Given the description of an element on the screen output the (x, y) to click on. 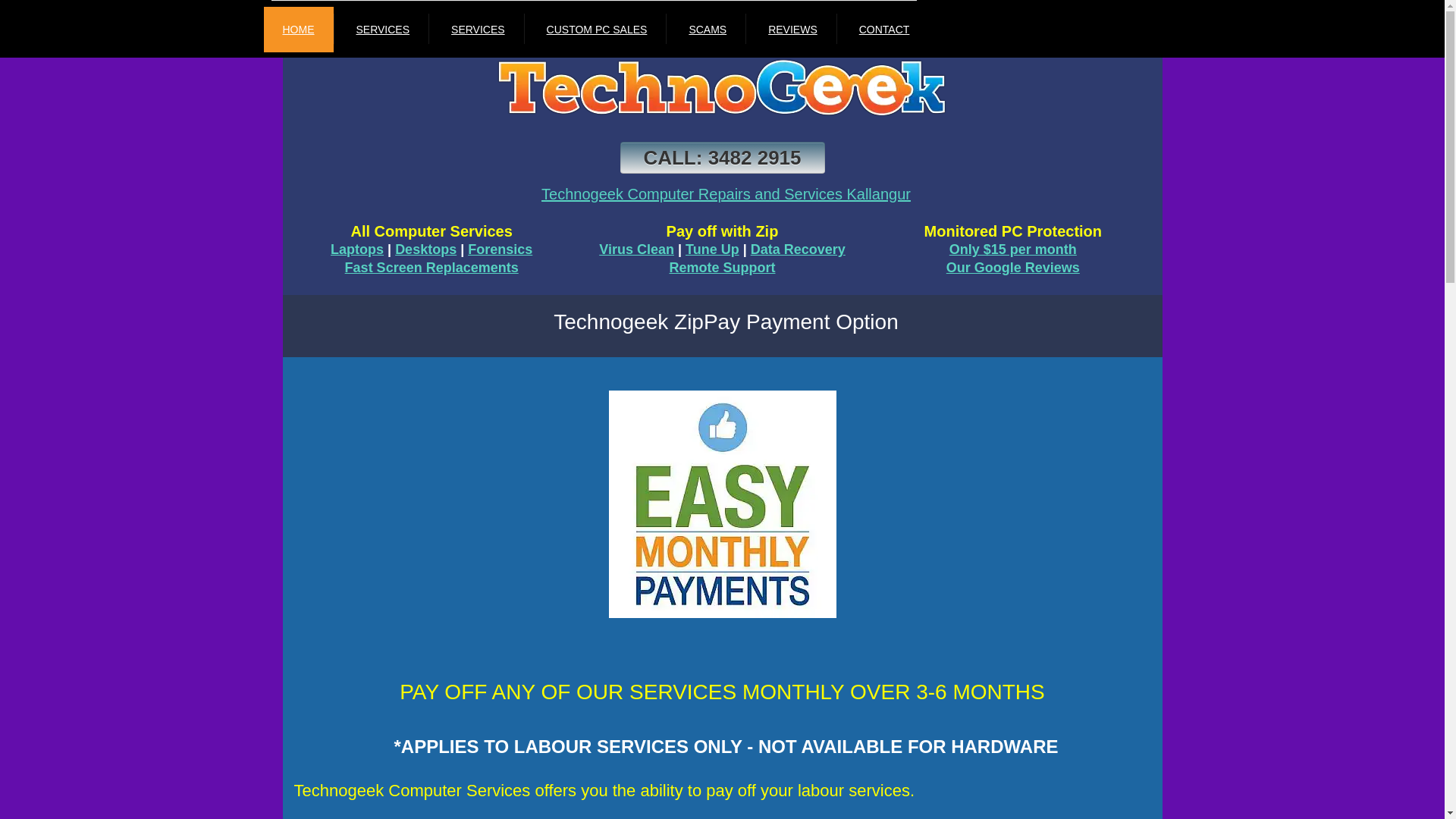
SERVICES Element type: text (478, 28)
Our Google Reviews Element type: text (1012, 267)
Virus Clean Element type: text (636, 249)
SERVICES Element type: text (382, 28)
REVIEWS Element type: text (792, 28)
Tune Up Element type: text (712, 249)
Remote Support Element type: text (721, 267)
Data Recovery Element type: text (797, 249)
HOME Element type: text (298, 28)
Fast Screen Replacements Element type: text (431, 267)
CALL: 3482 2915 Element type: text (722, 157)
Technogeek Computer Repairs and Services Kallangur Element type: text (725, 193)
SCAMS Element type: text (707, 28)
Only $15 per month Element type: text (1012, 249)
CUSTOM PC SALES Element type: text (596, 28)
CONTACT Element type: text (884, 28)
Desktops Element type: text (425, 249)
Forensics Element type: text (499, 249)
Laptops Element type: text (356, 249)
